Given the description of an element on the screen output the (x, y) to click on. 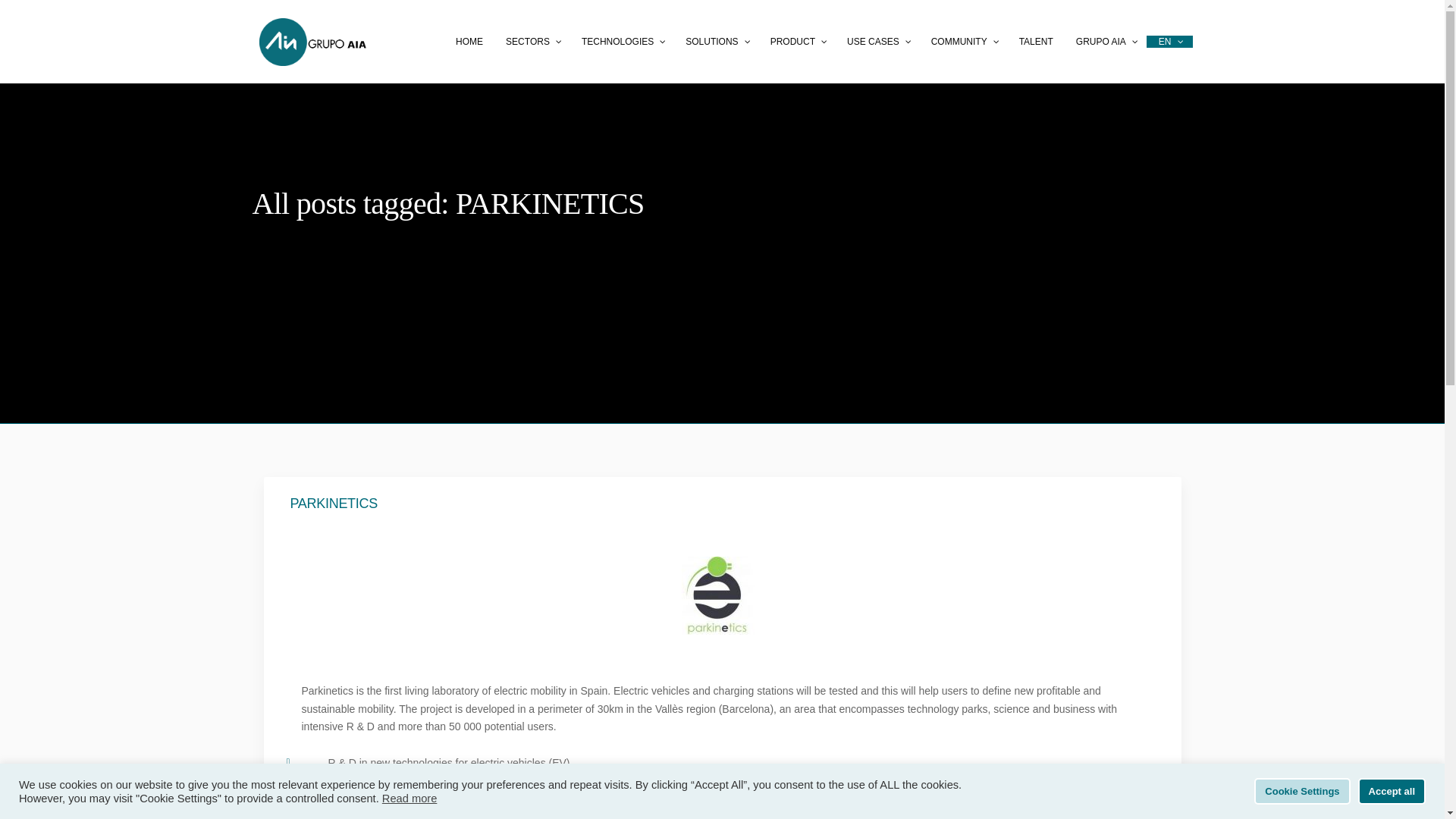
PRODUCT (796, 41)
PARKINETICS (721, 503)
SOLUTIONS (716, 41)
SECTORS (532, 41)
TECHNOLOGIES (622, 41)
